Given the description of an element on the screen output the (x, y) to click on. 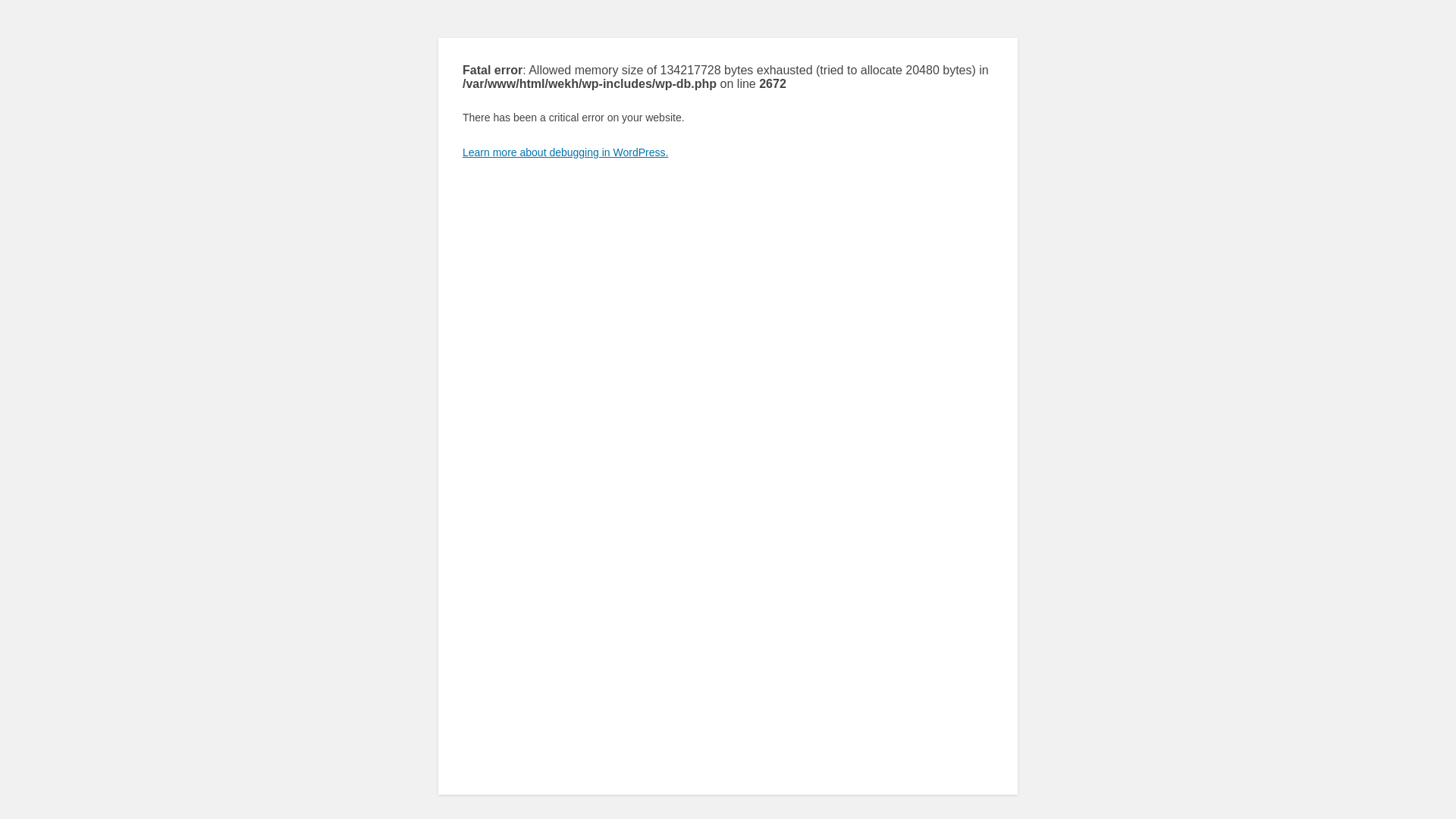
Learn more about debugging in WordPress. Element type: text (565, 152)
